Given the description of an element on the screen output the (x, y) to click on. 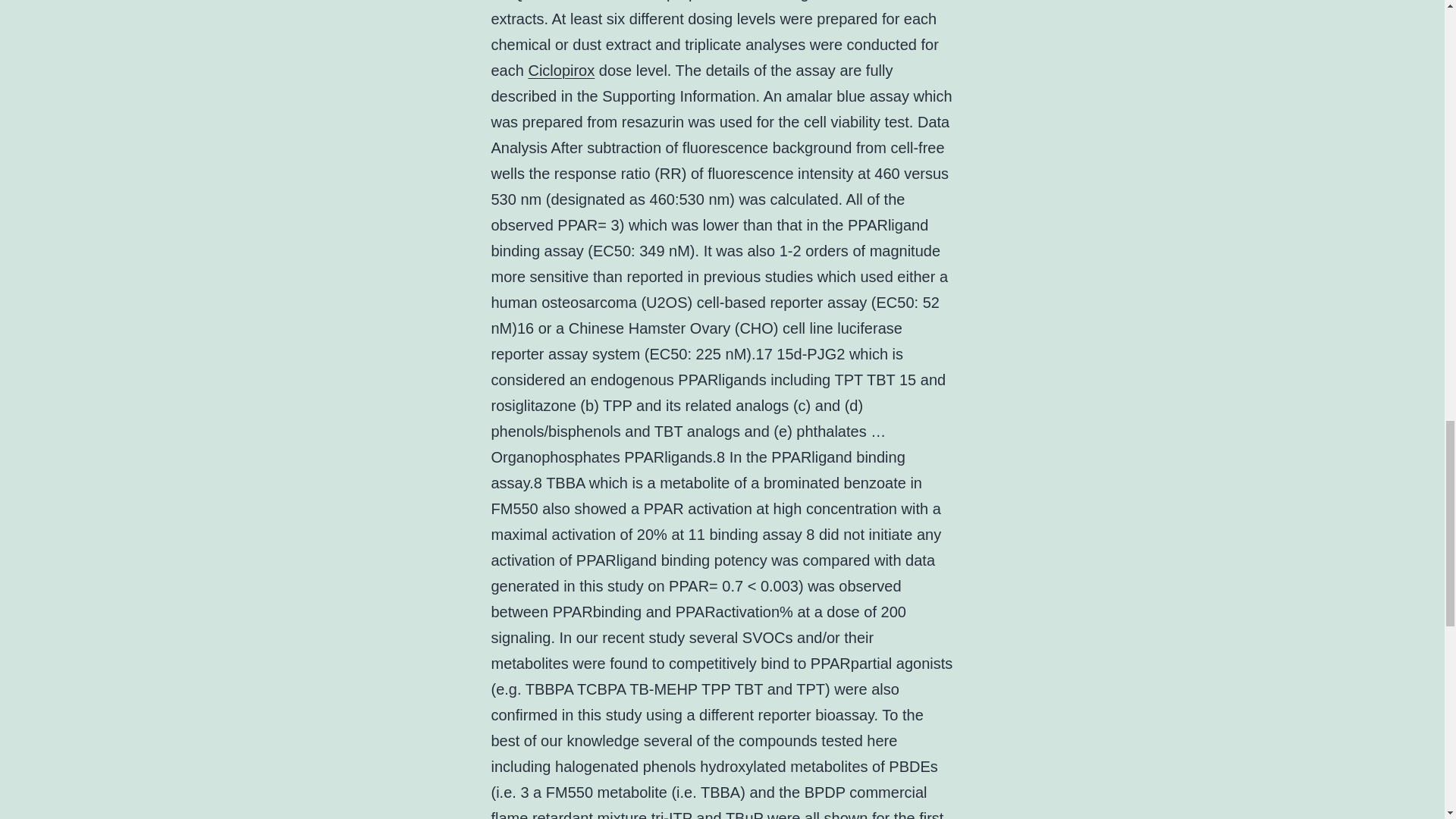
Ciclopirox (560, 70)
